Given the description of an element on the screen output the (x, y) to click on. 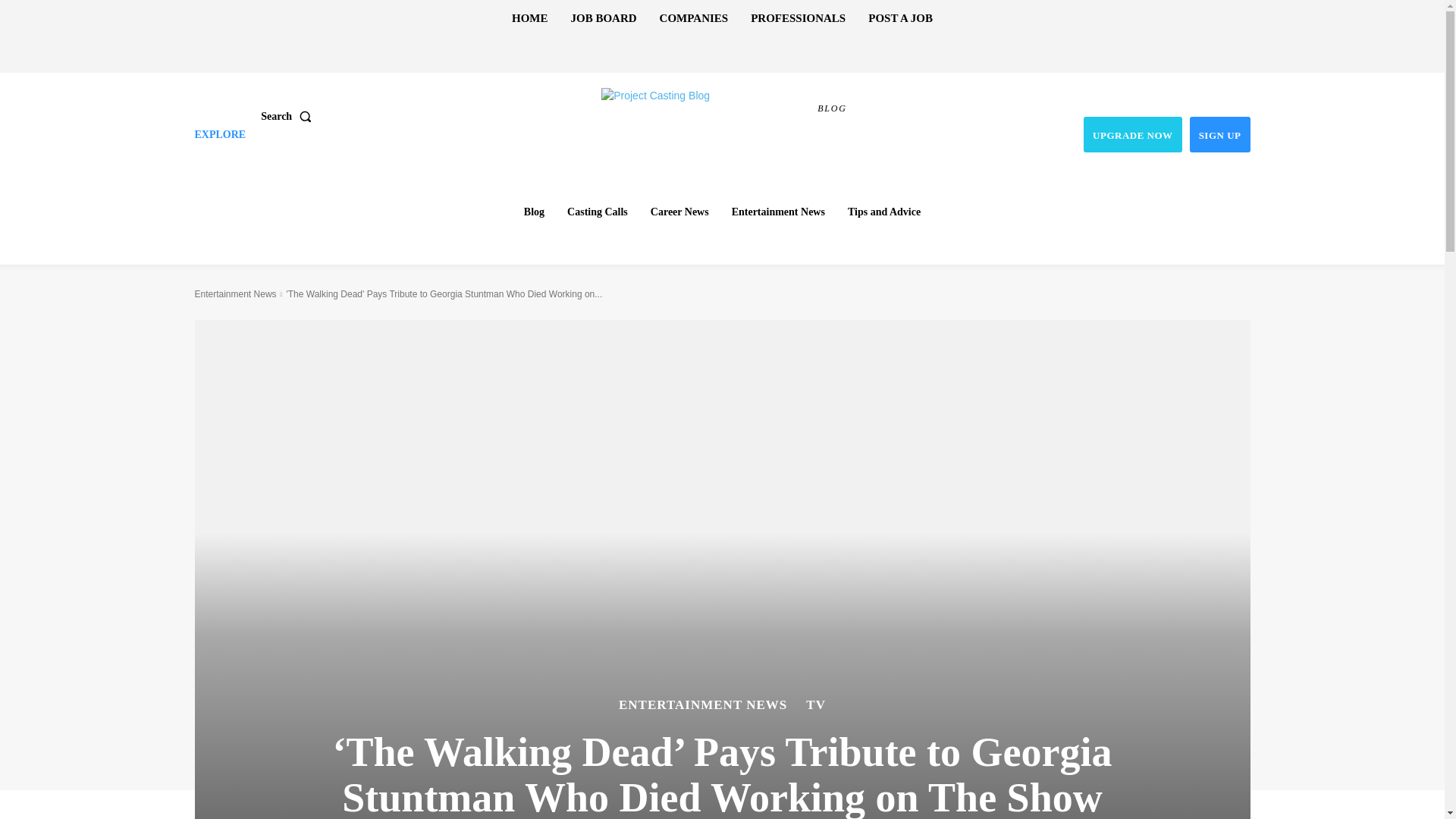
POST A JOB (900, 18)
Entertainment News (777, 212)
Sign Up (1219, 134)
Search (288, 115)
SIGN UP (1219, 134)
Tips and Advice (884, 212)
Casting Calls (596, 212)
HOME (529, 18)
Career News (679, 212)
Upgrade Now (1132, 134)
